Given the description of an element on the screen output the (x, y) to click on. 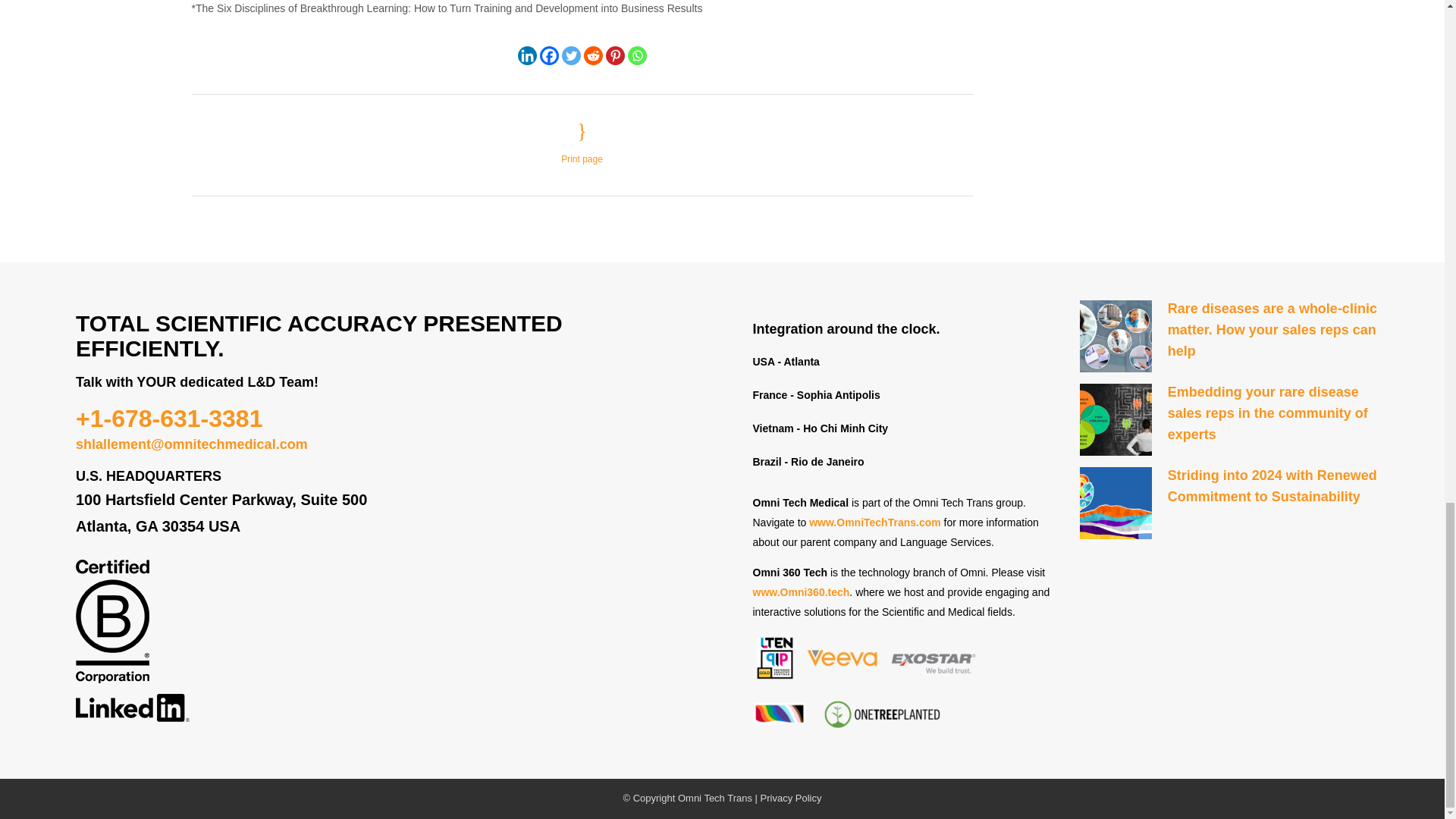
Reddit (592, 55)
Print page (581, 142)
Linkedin (525, 55)
Whatsapp (636, 55)
www.OmniTechTrans.com (874, 522)
Twitter (569, 55)
Pinterest (614, 55)
www.Omni360.tech (800, 592)
Facebook (549, 55)
